Given the description of an element on the screen output the (x, y) to click on. 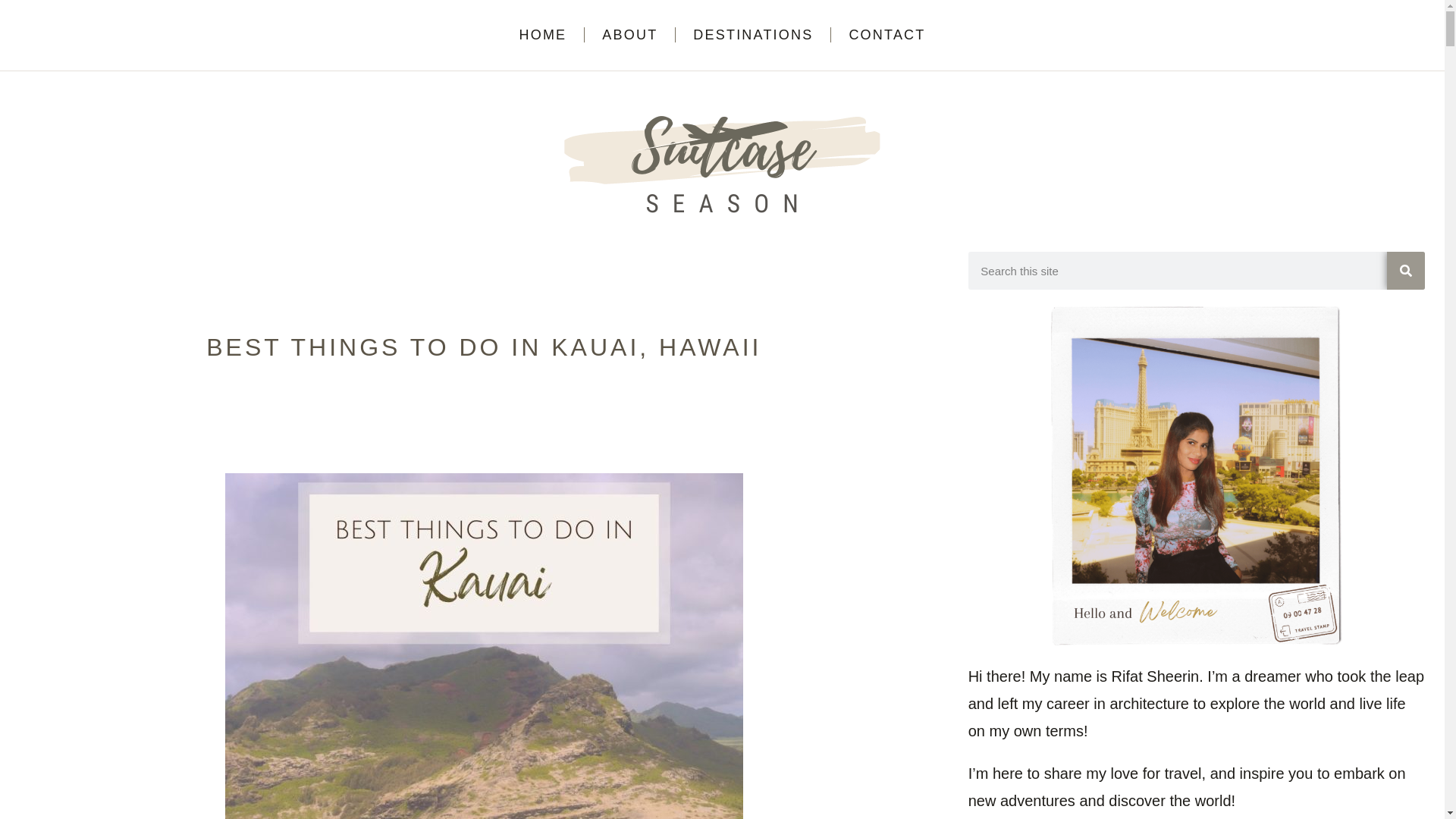
DESTINATIONS (753, 34)
CONTACT (886, 34)
ABOUT (629, 34)
HOME (542, 34)
